Given the description of an element on the screen output the (x, y) to click on. 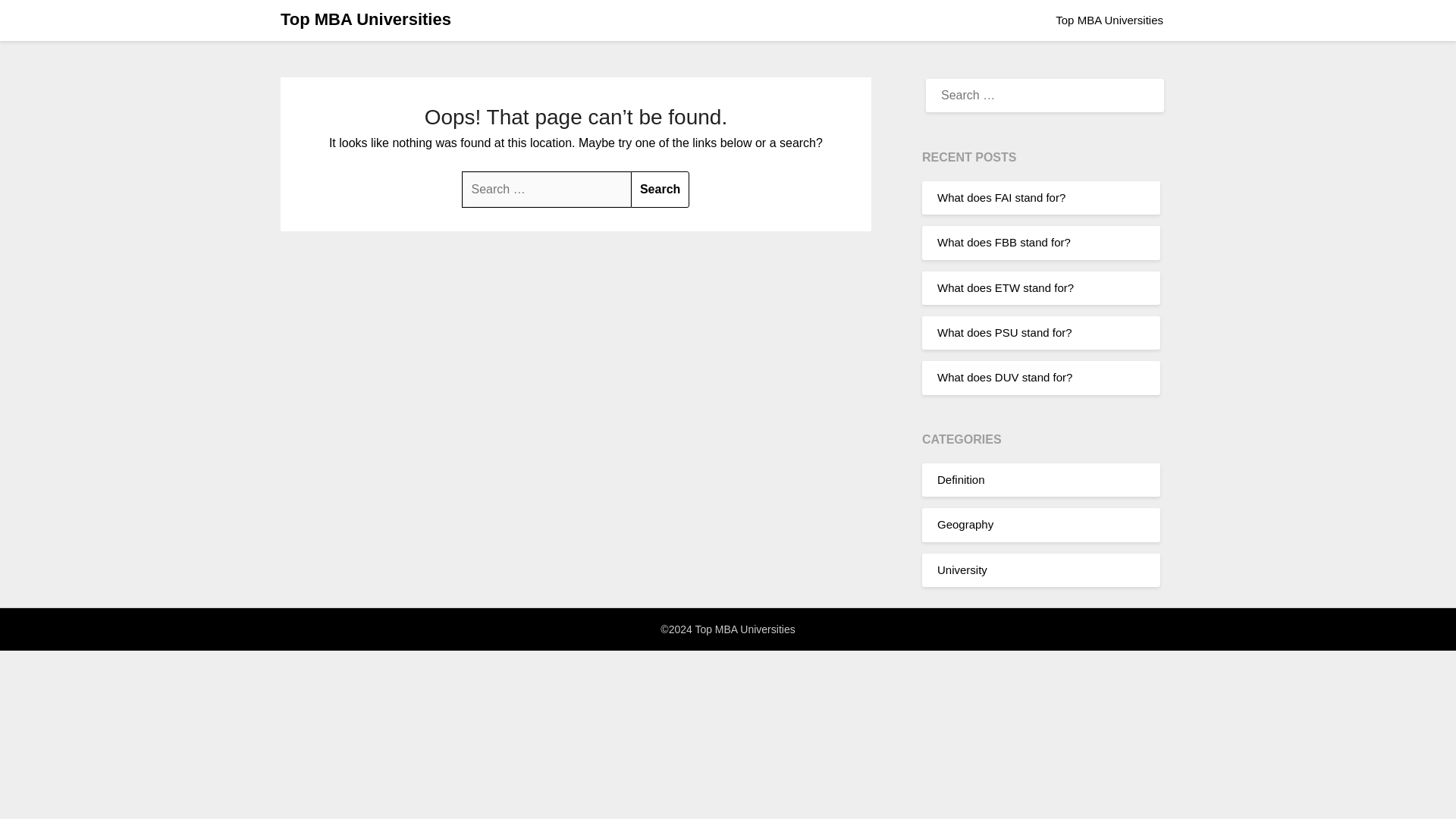
What does ETW stand for? (1005, 287)
Geography (964, 523)
What does FBB stand for? (1003, 241)
What does DUV stand for? (1004, 377)
What does PSU stand for? (1004, 332)
What does FAI stand for? (1001, 196)
Definition (961, 479)
University (962, 568)
Search (659, 189)
Search (659, 189)
